Given the description of an element on the screen output the (x, y) to click on. 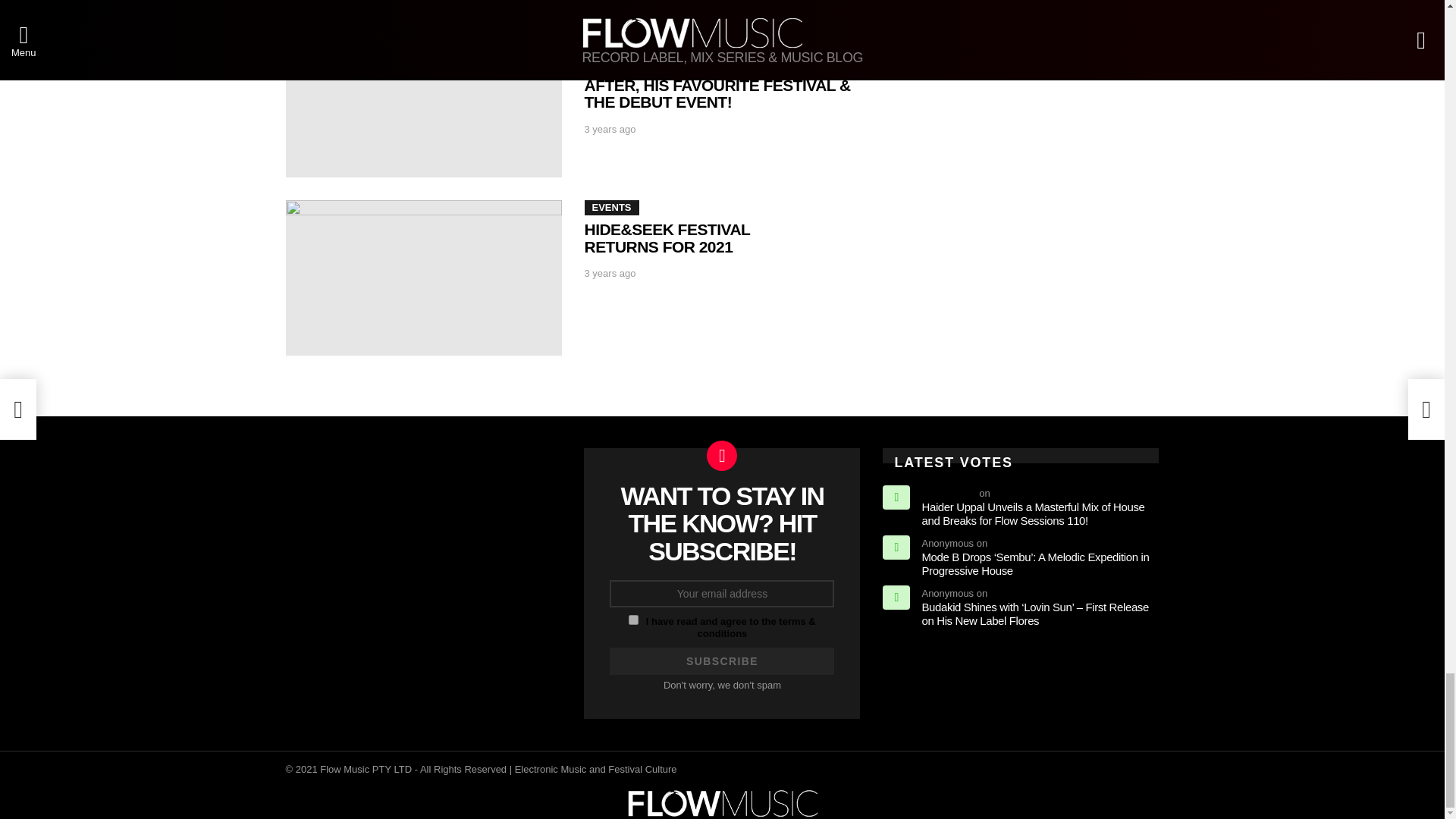
SUBSCRIBE (722, 660)
1 (633, 619)
